Given the description of an element on the screen output the (x, y) to click on. 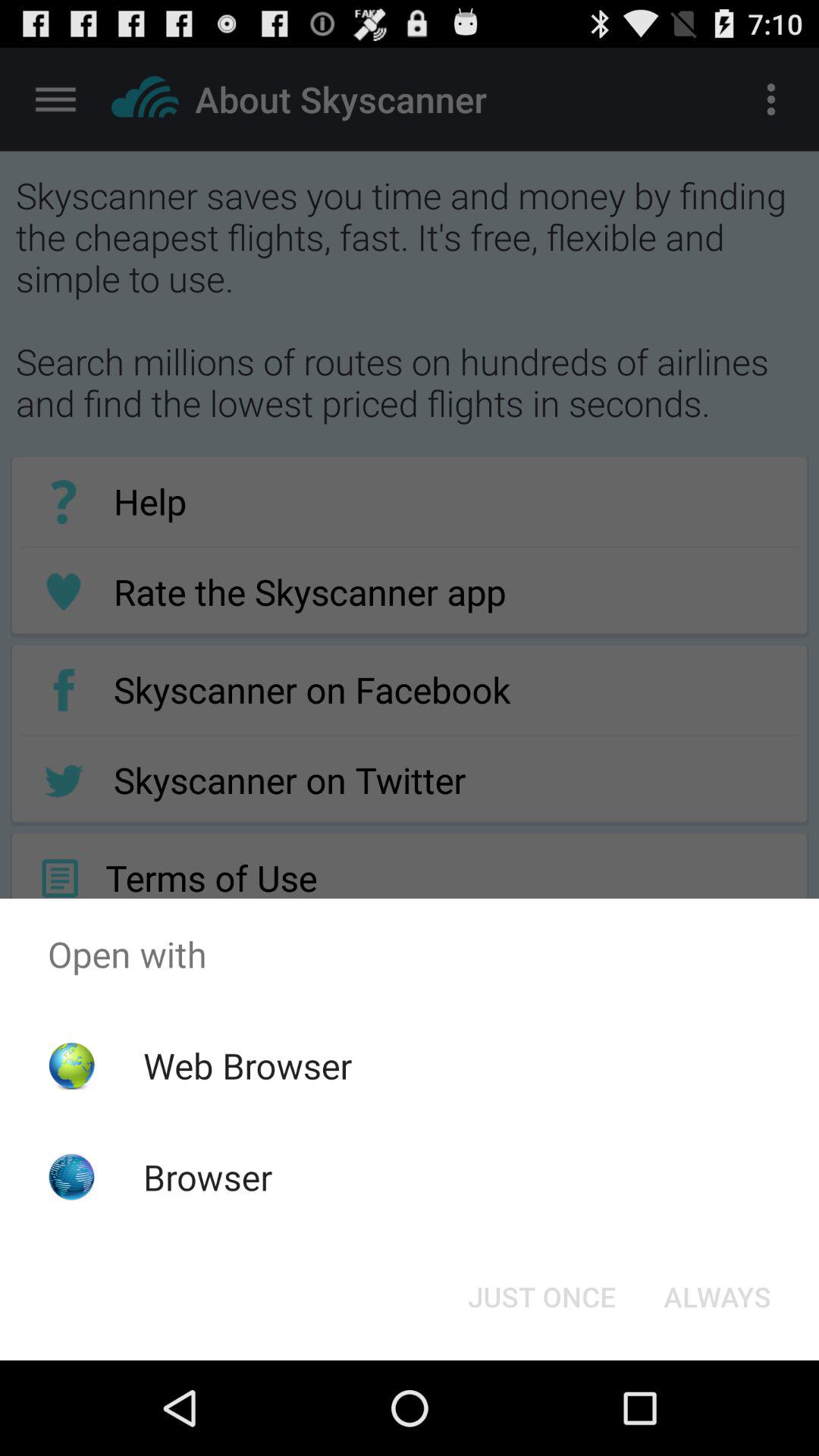
press the item to the right of just once (717, 1296)
